Given the description of an element on the screen output the (x, y) to click on. 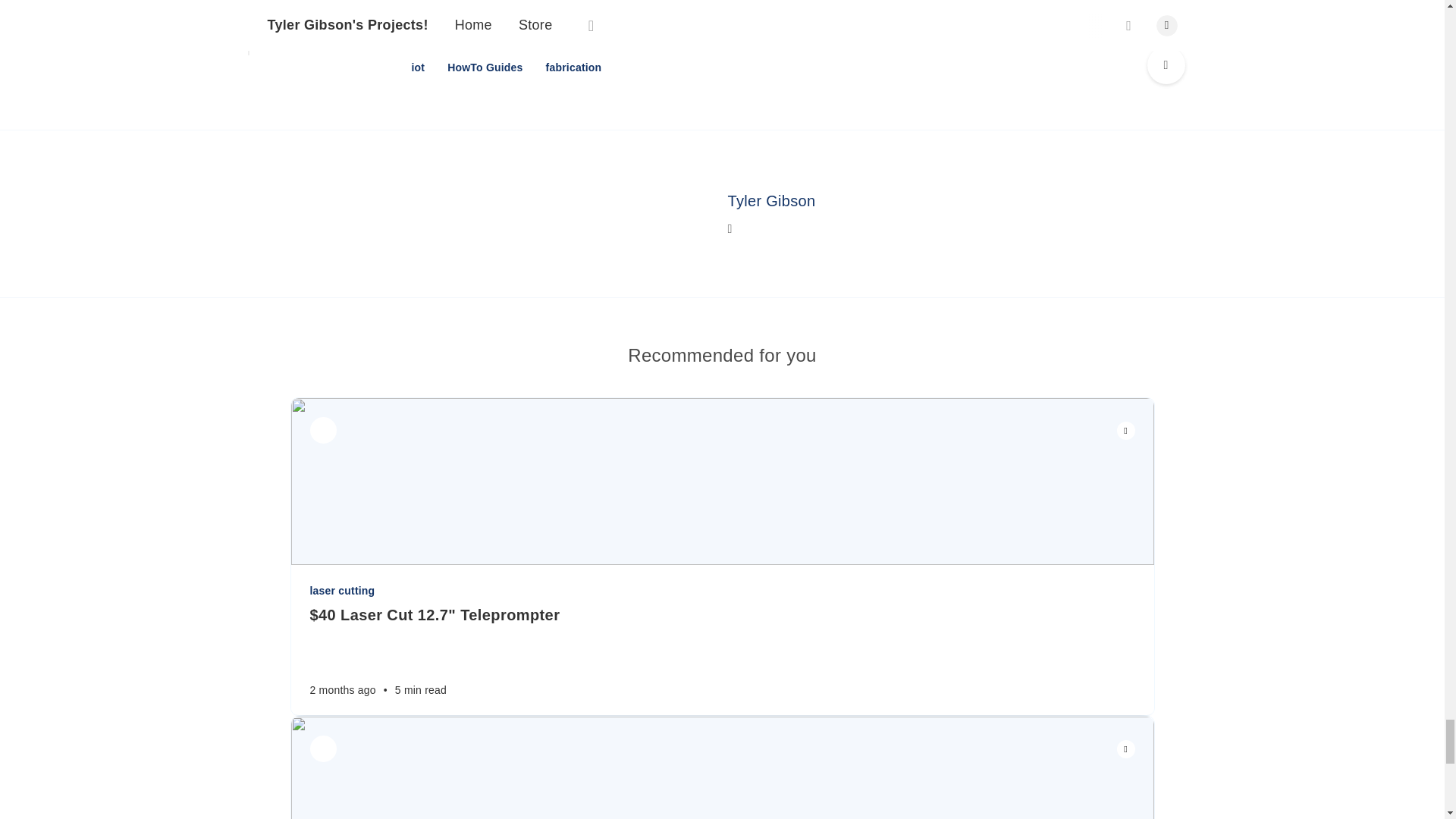
iot (417, 67)
HowTo Guides (484, 67)
fabrication (574, 67)
